Given the description of an element on the screen output the (x, y) to click on. 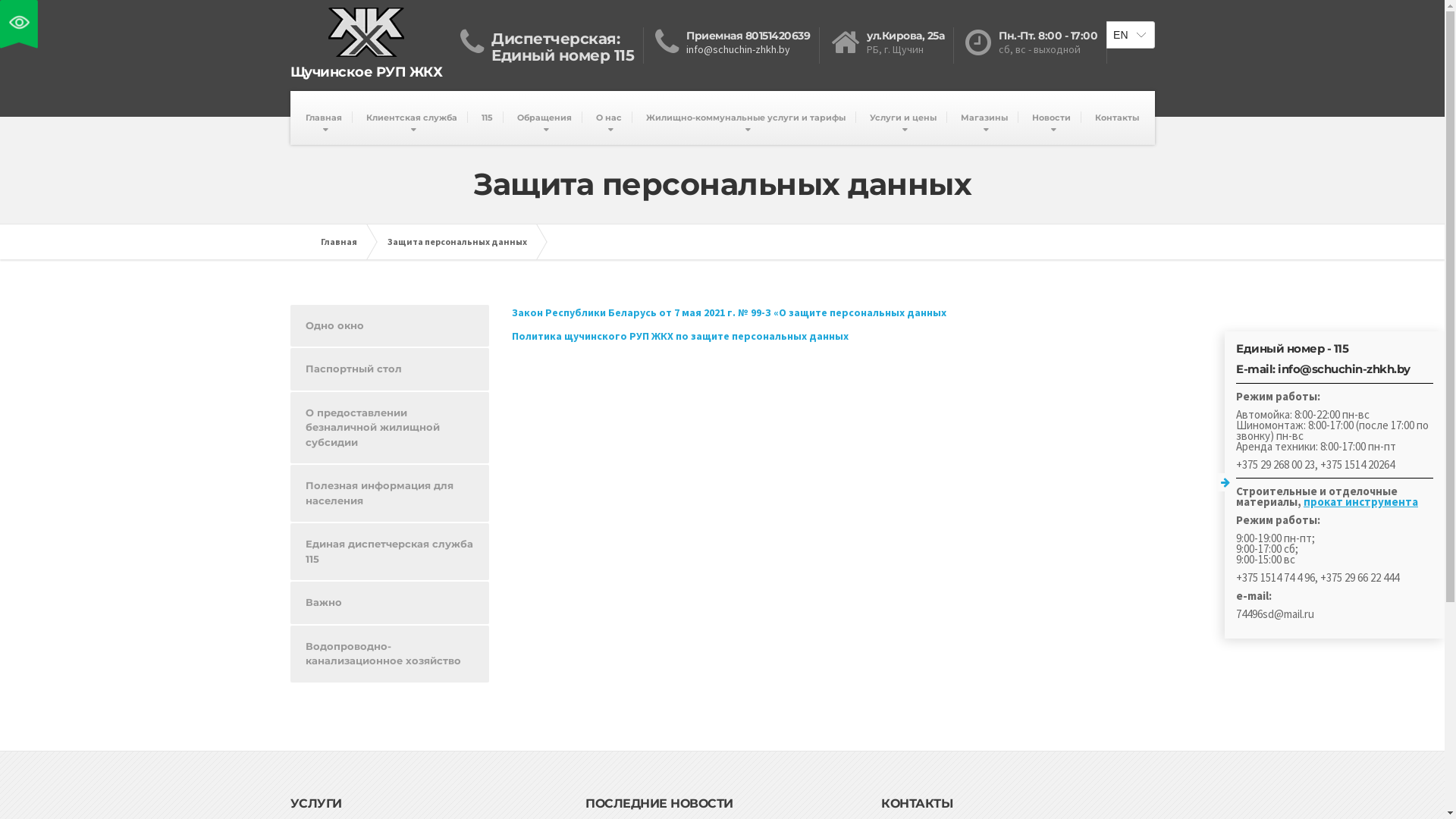
115 Element type: text (486, 117)
80151420639 Element type: text (777, 35)
115 Element type: text (624, 55)
info@schuchin-zhkh.by Element type: text (738, 49)
